Given the description of an element on the screen output the (x, y) to click on. 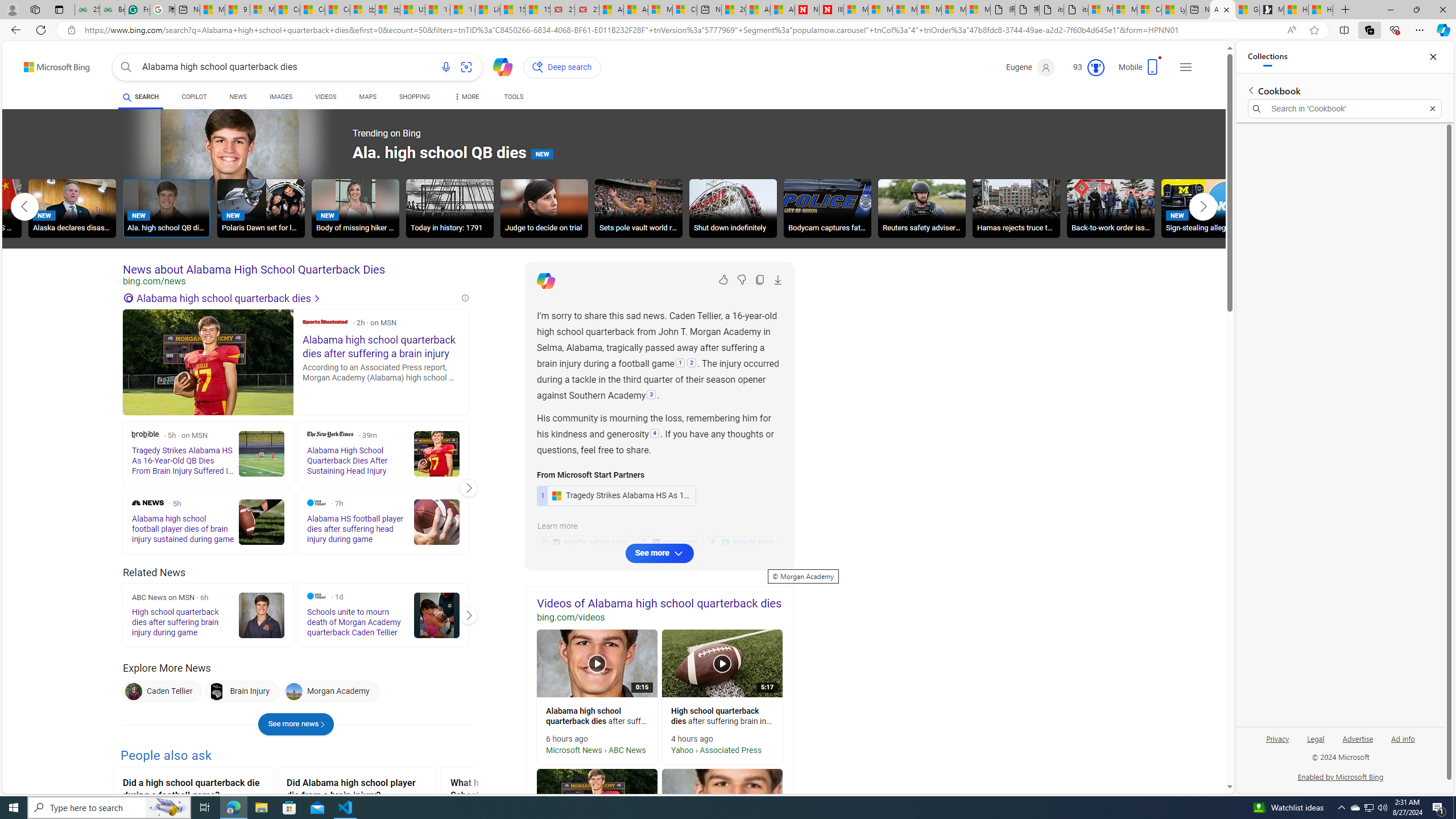
MAPS (367, 96)
Body of missing hiker found NEW (354, 207)
4:  (655, 434)
Copy (759, 280)
Brain Injury (241, 691)
